Given the description of an element on the screen output the (x, y) to click on. 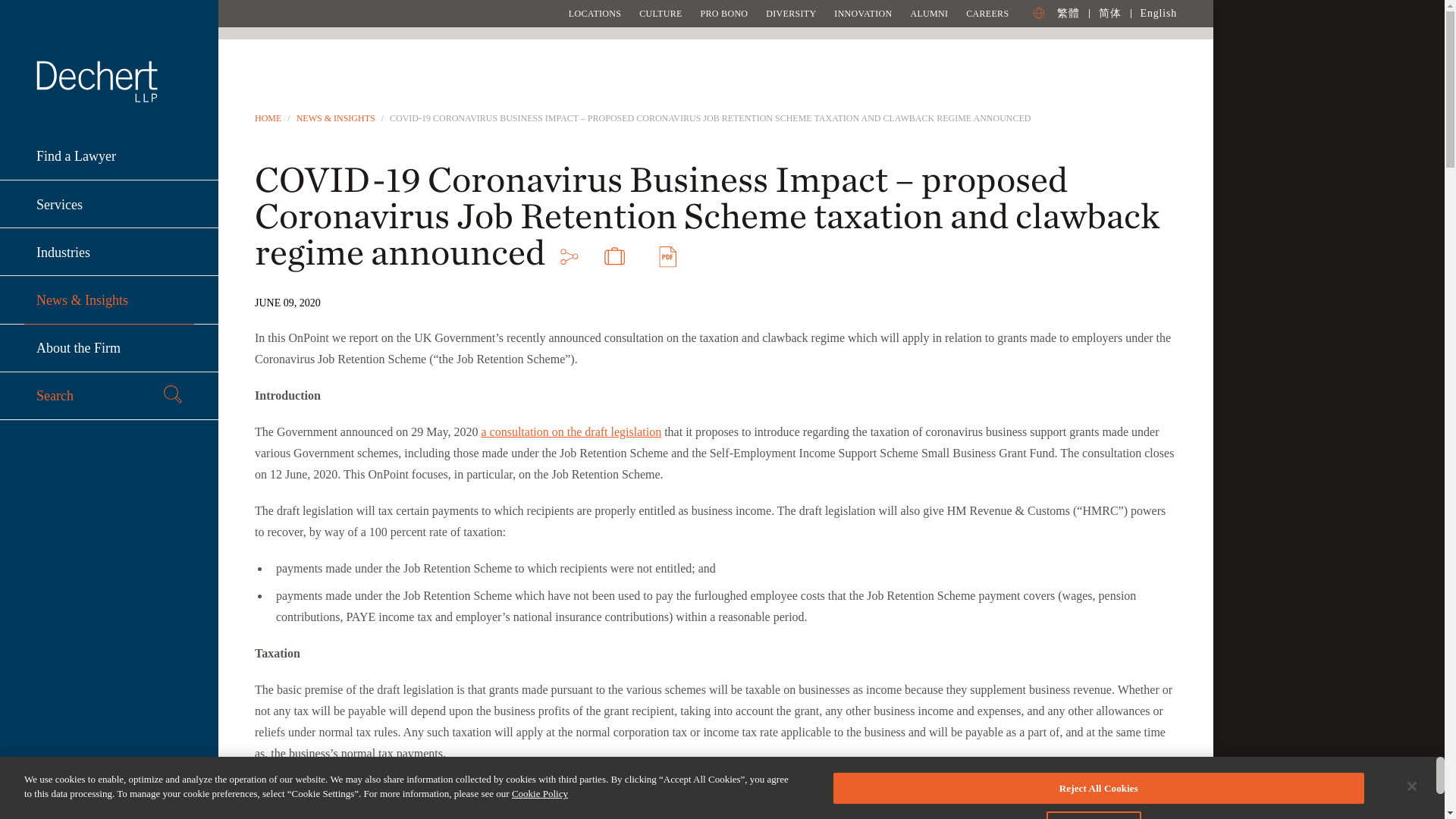
DIVERSITY (790, 13)
ALUMNI (928, 13)
Find a Lawyer (108, 156)
LOCATIONS (595, 13)
Services (108, 204)
Traditional Chinese (1068, 12)
About the Firm (108, 348)
Industries (108, 252)
Search (108, 396)
English (1158, 12)
INNOVATION (862, 13)
Simplified Chinese (1110, 12)
CAREERS (987, 13)
PRO BONO (724, 13)
CULTURE (660, 13)
